Given the description of an element on the screen output the (x, y) to click on. 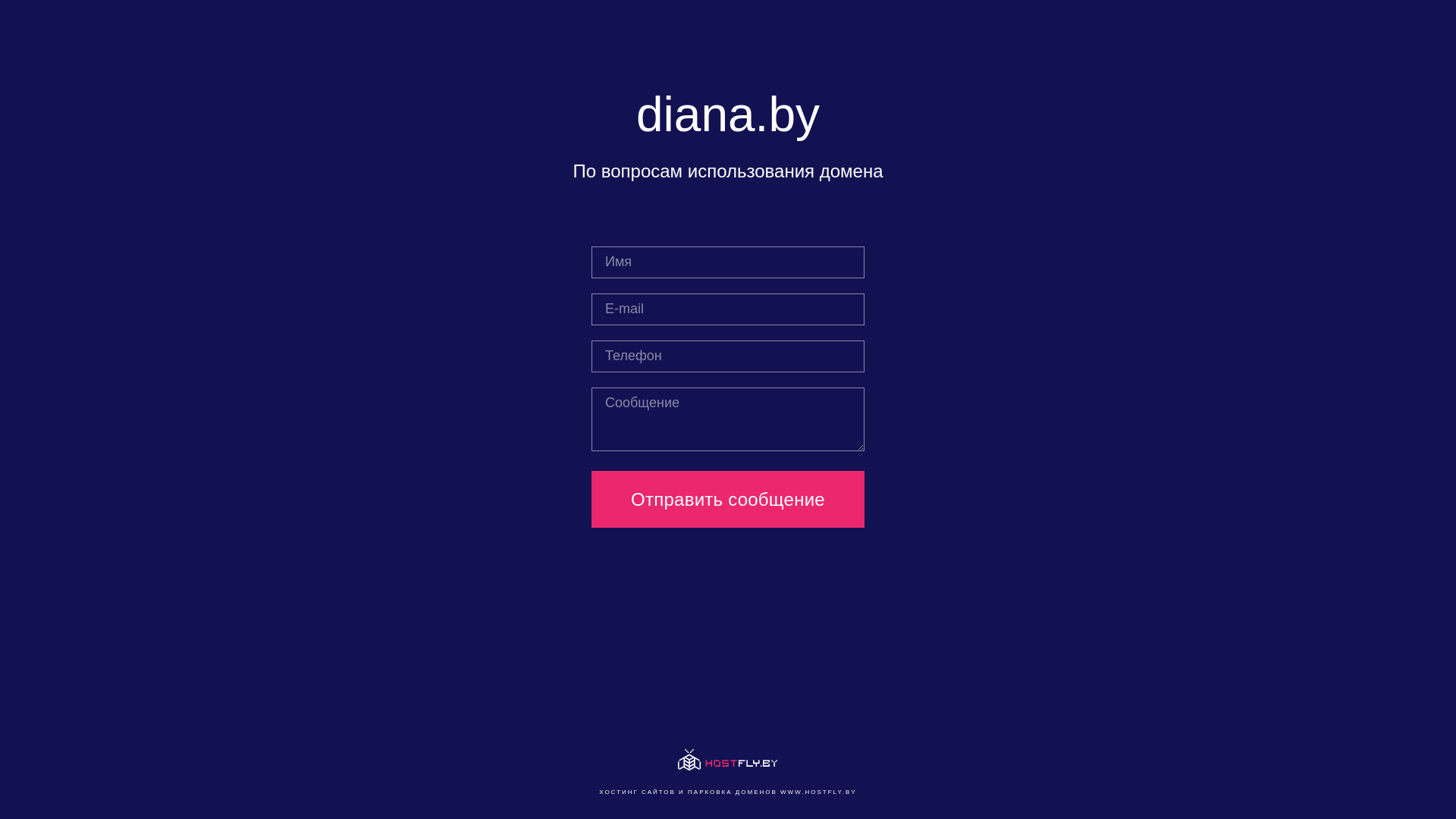
WWW.HOSTFLY.BY Element type: text (818, 791)
